Given the description of an element on the screen output the (x, y) to click on. 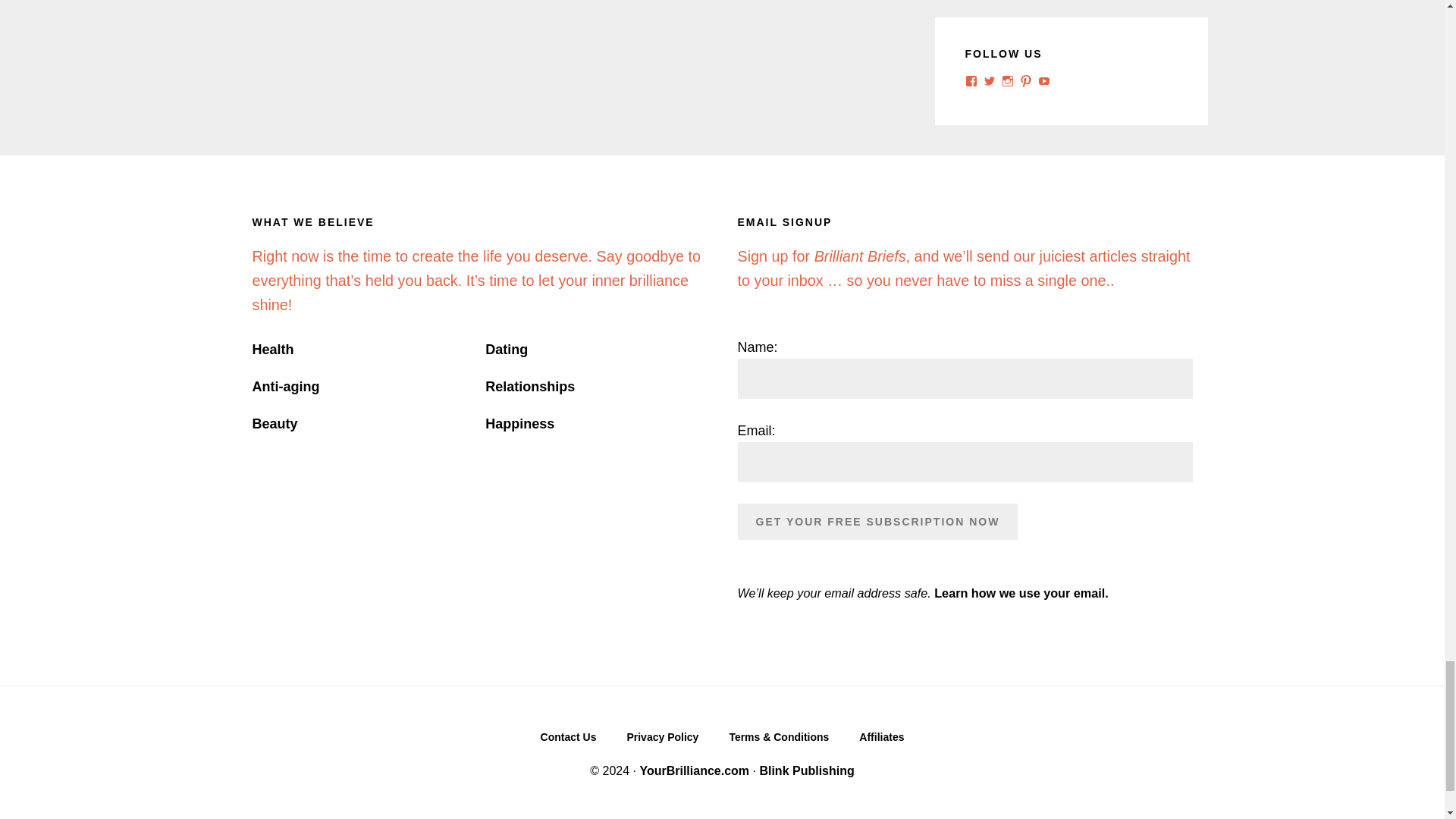
Get Your Free Subscription Now (876, 521)
